Given the description of an element on the screen output the (x, y) to click on. 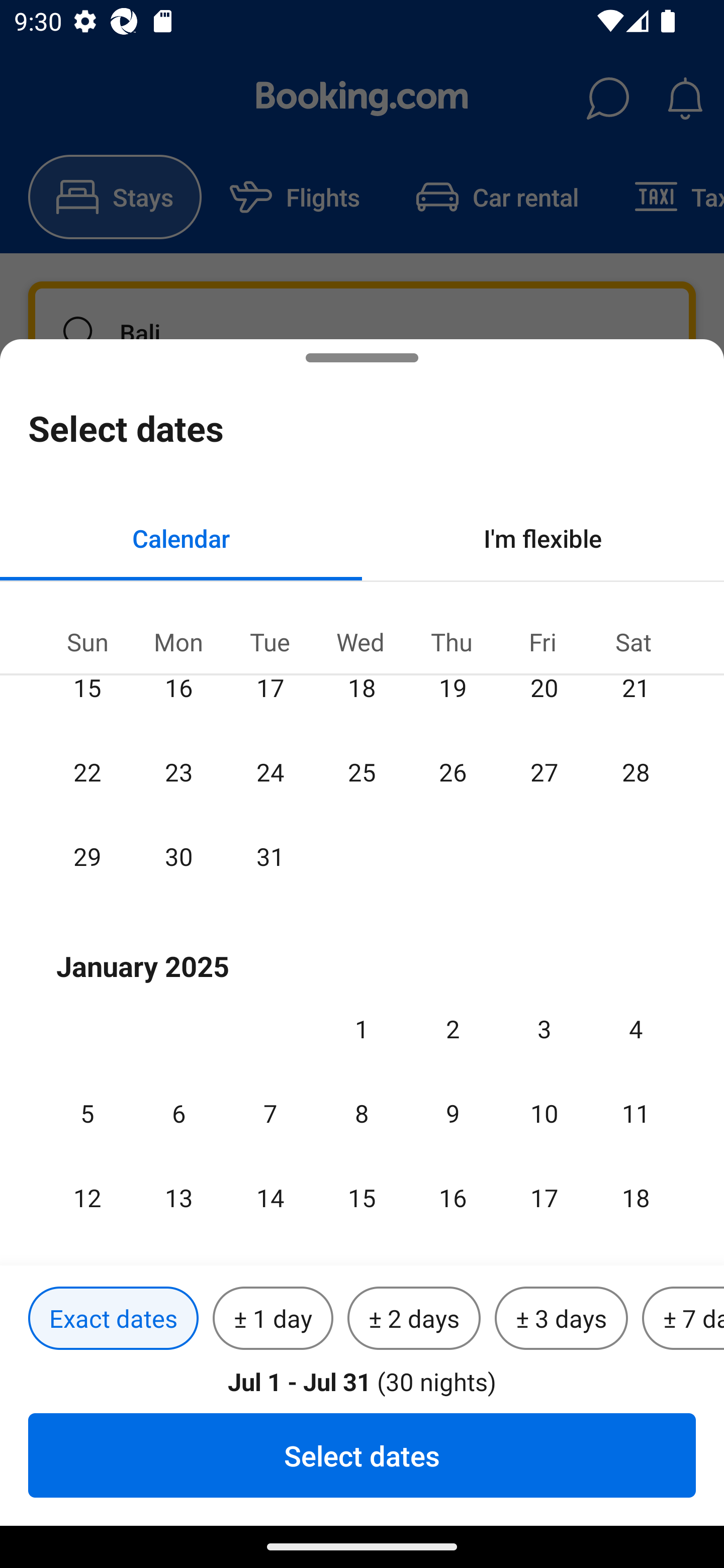
I'm flexible (543, 537)
Exact dates (113, 1318)
± 1 day (272, 1318)
± 2 days (413, 1318)
± 3 days (560, 1318)
± 7 days (683, 1318)
Select dates (361, 1454)
